Given the description of an element on the screen output the (x, y) to click on. 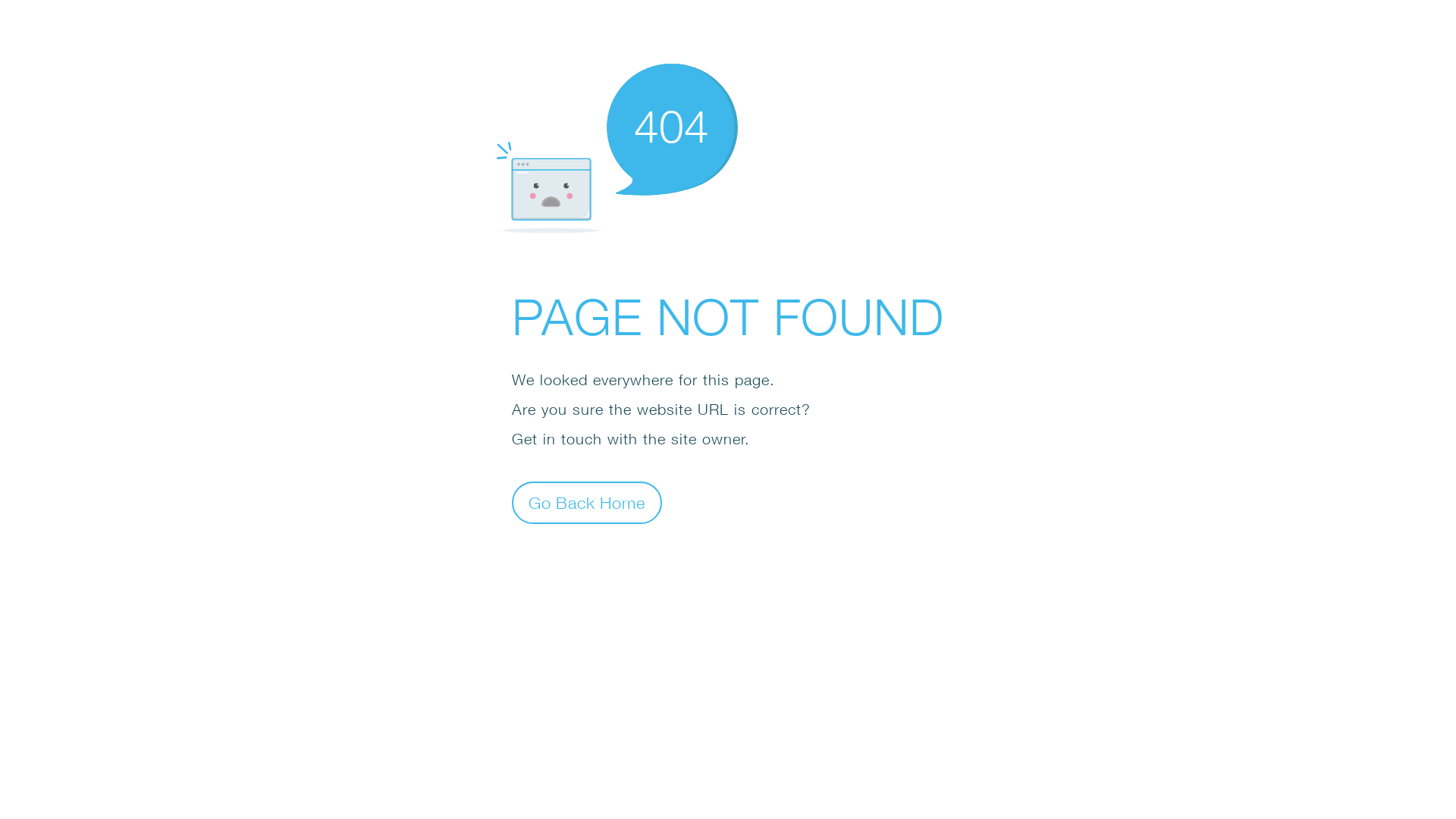
Go Back Home Element type: text (586, 502)
